Given the description of an element on the screen output the (x, y) to click on. 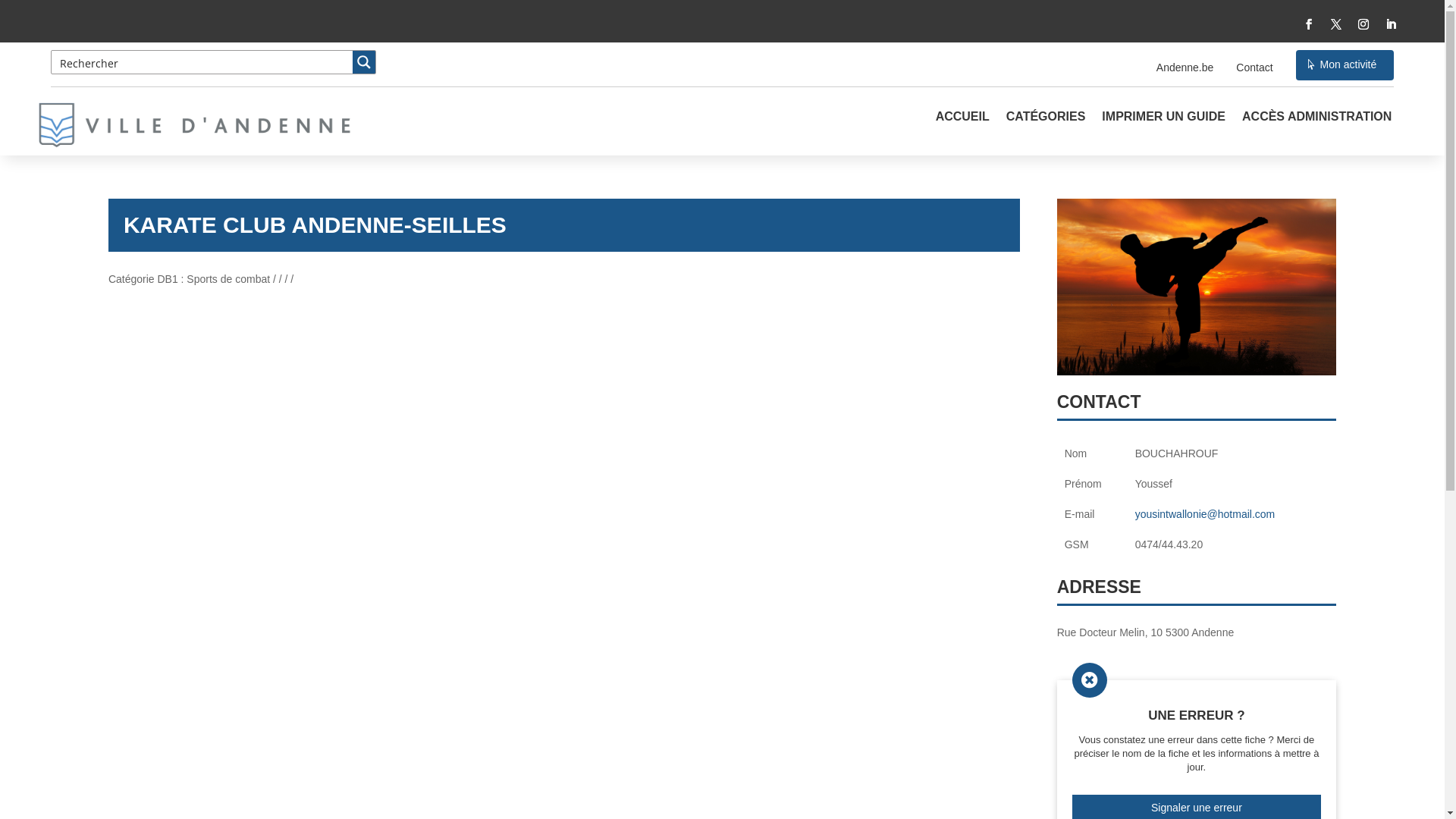
IMPRIMER UN GUIDE Element type: text (1163, 127)
Andenne.be Element type: text (1185, 68)
yousintwallonie@hotmail.com Element type: text (1205, 514)
Contact Element type: text (1254, 68)
ACCUEIL Element type: text (962, 127)
